Given the description of an element on the screen output the (x, y) to click on. 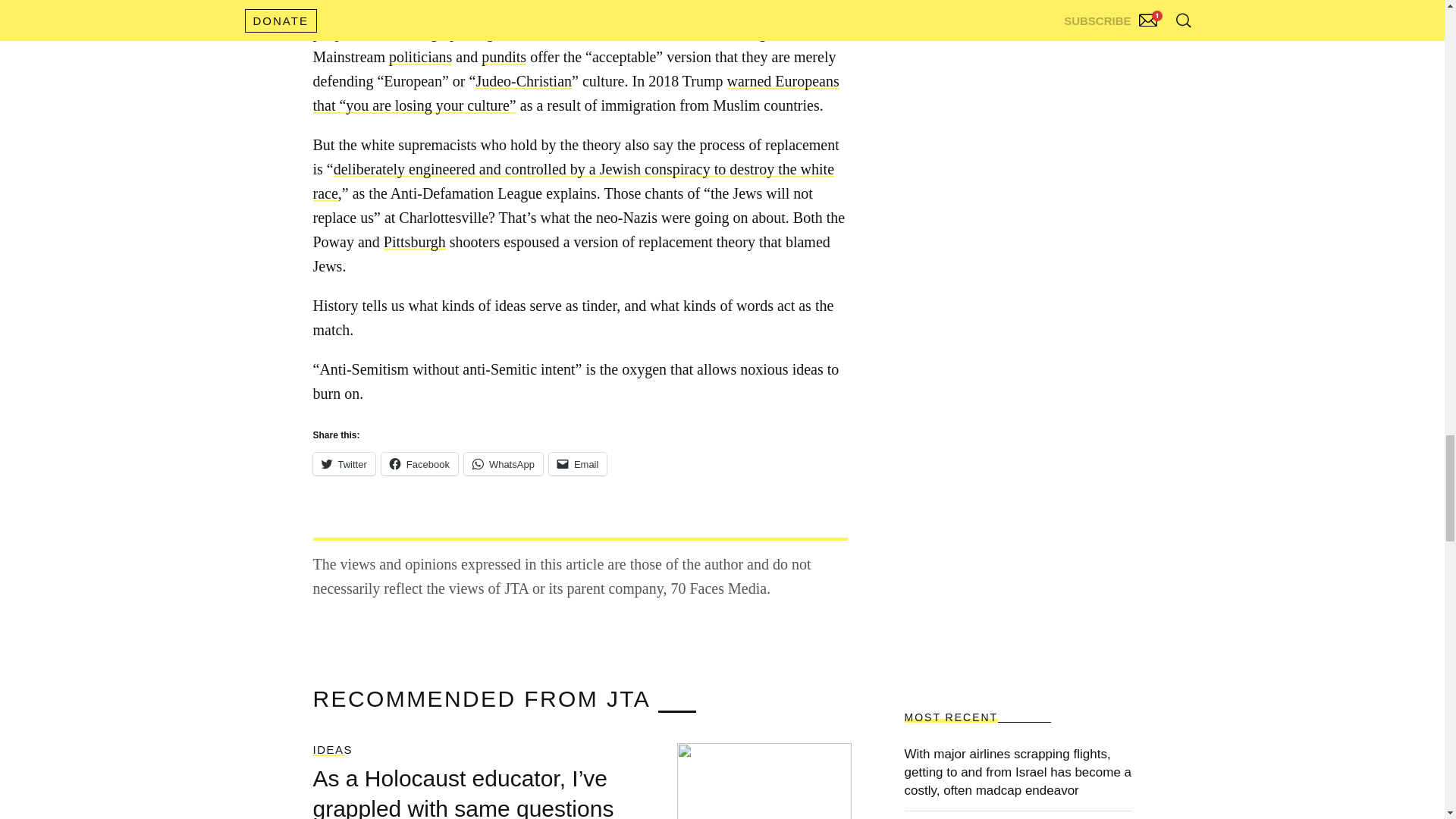
Click to share on Twitter (343, 463)
Click to share on WhatsApp (503, 463)
Click to email a link to a friend (577, 463)
Click to share on Facebook (419, 463)
